Given the description of an element on the screen output the (x, y) to click on. 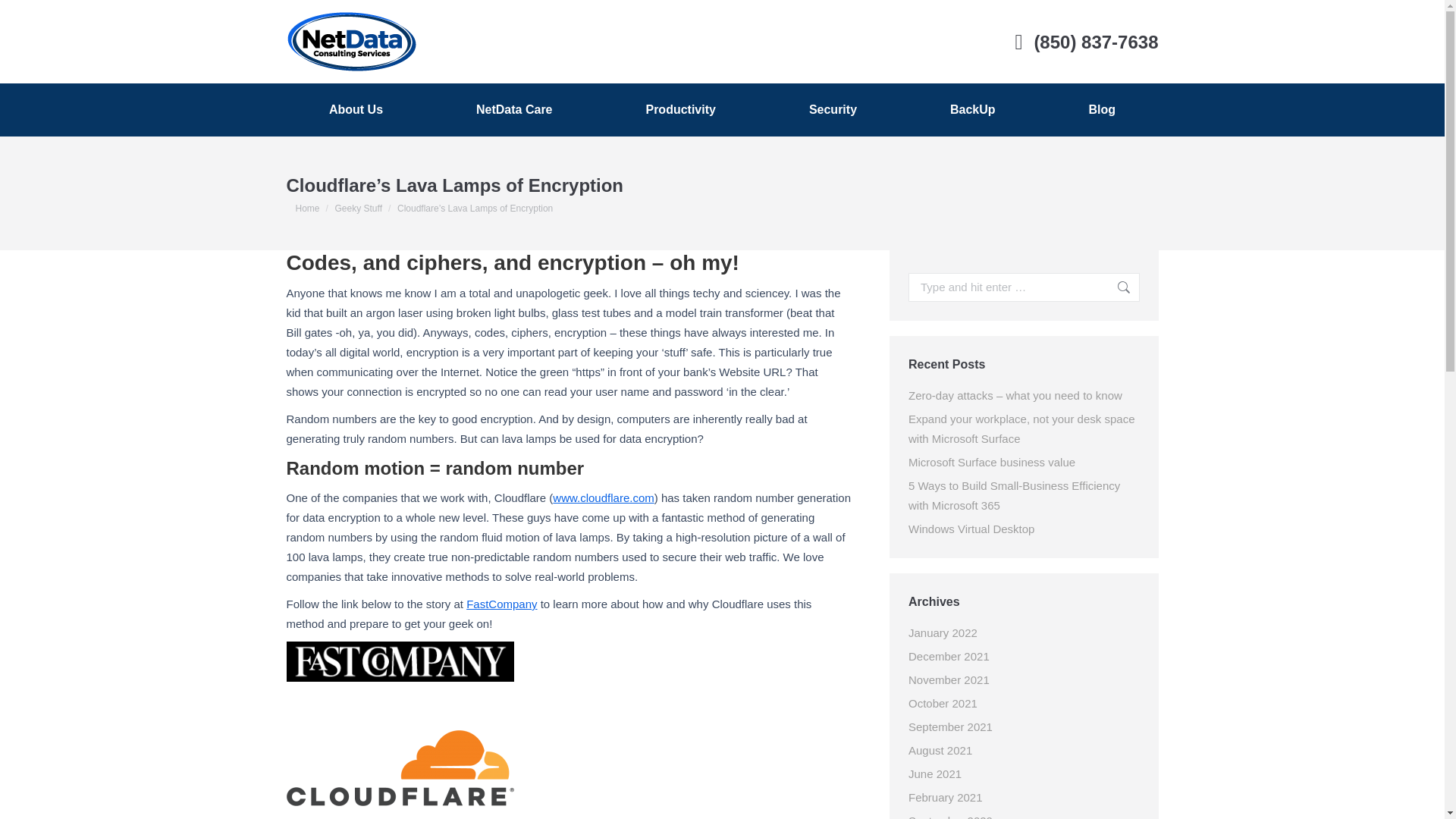
Home (307, 208)
Security (832, 109)
Cloud Data Back Up (973, 109)
Geeky Stuff (357, 208)
Virus Protection by Trend Micro  (832, 109)
Office 365 Work Suite (680, 109)
NetData Care (514, 109)
Veeam Info (1000, 588)
About Us (356, 109)
Go! (1116, 287)
Get to Know NetData (356, 109)
Veeam Info (1011, 543)
Go! (1116, 287)
BackUp (973, 109)
Productivity (680, 109)
